Given the description of an element on the screen output the (x, y) to click on. 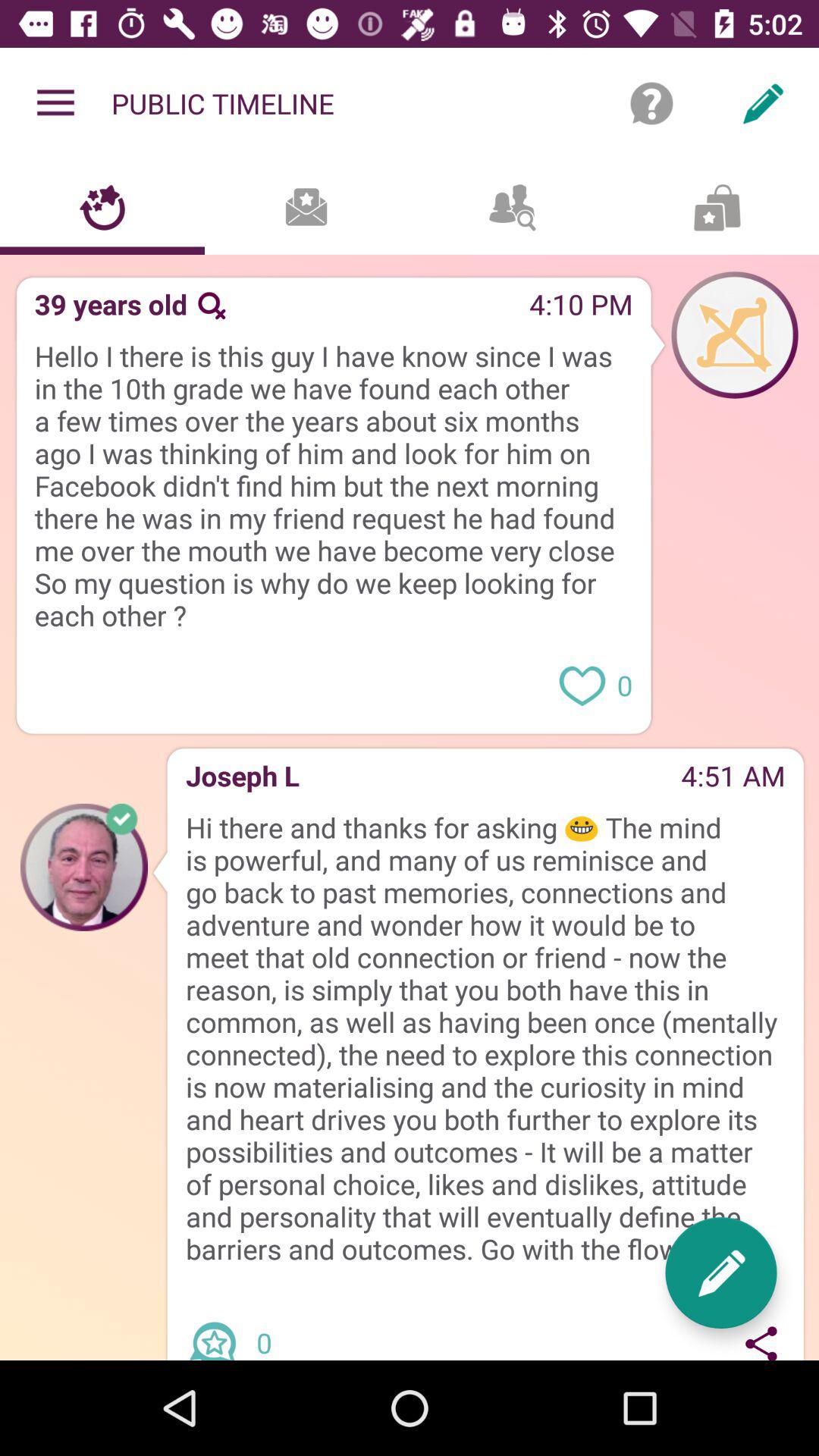
choose the hi there and (485, 1037)
